Given the description of an element on the screen output the (x, y) to click on. 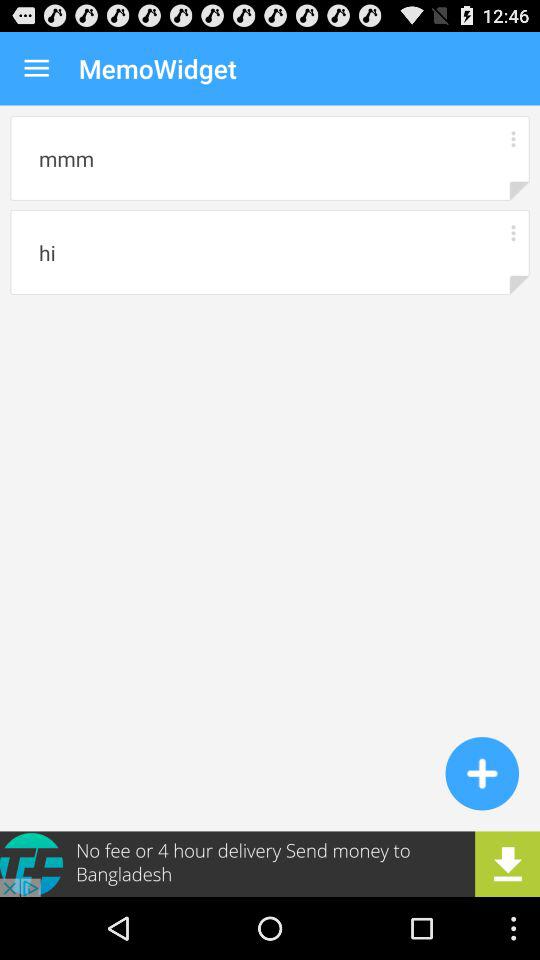
open advertisement (270, 864)
